Given the description of an element on the screen output the (x, y) to click on. 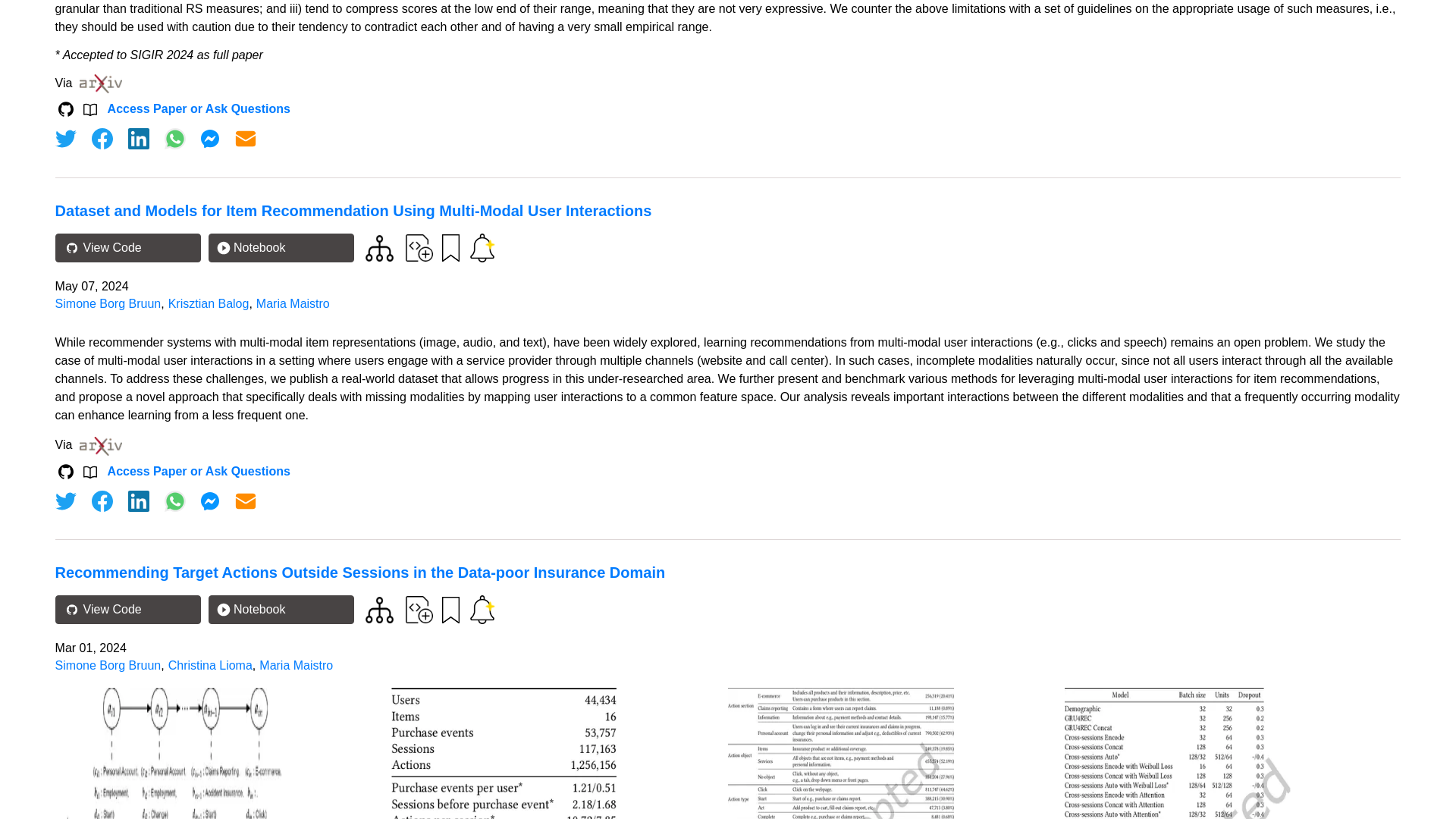
View code for similar papers (379, 248)
Share via Email (245, 500)
Access Paper or Ask Questions (198, 109)
Share via Email (245, 138)
Contribute your code for this paper to the community (419, 247)
